Given the description of an element on the screen output the (x, y) to click on. 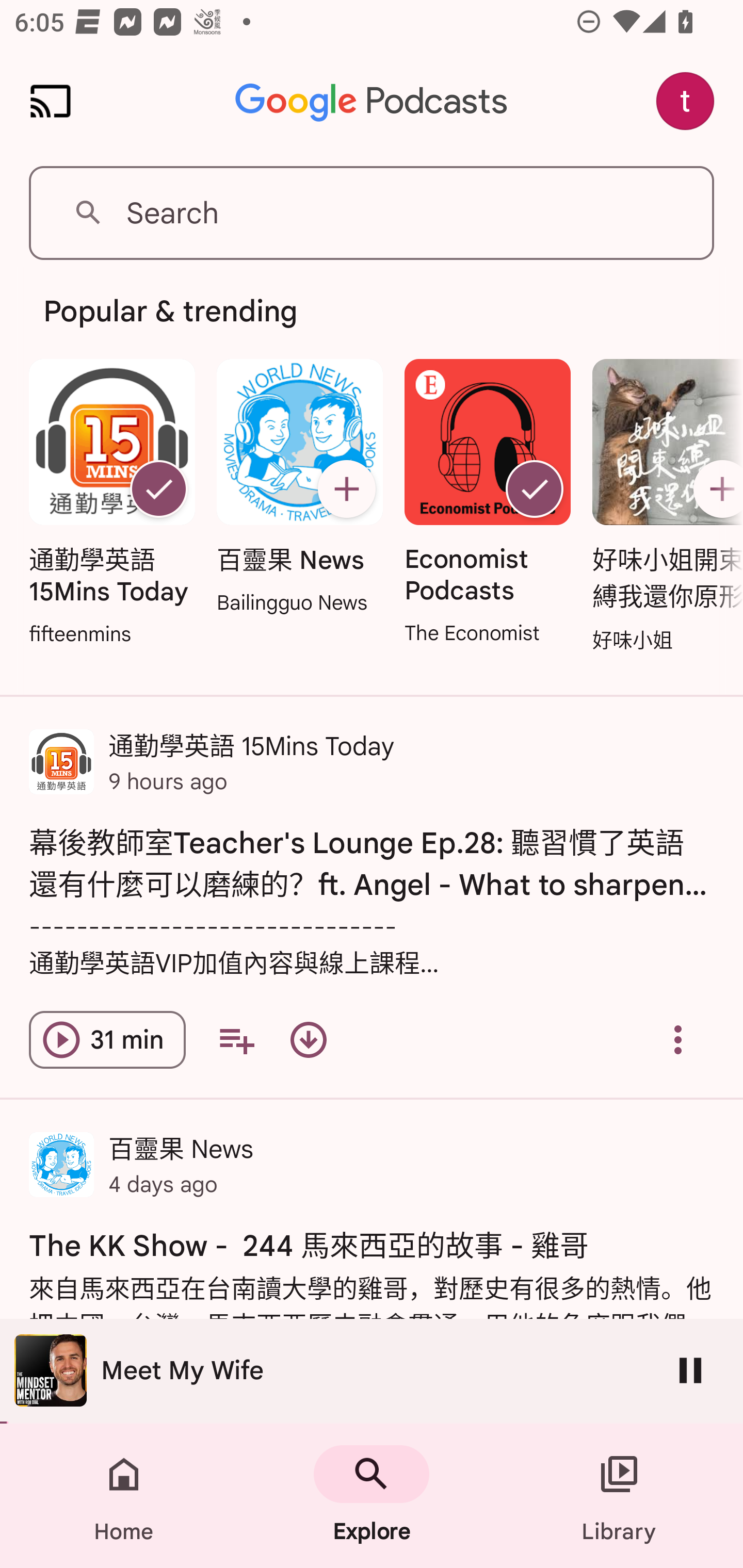
Cast. Disconnected (50, 101)
Search (371, 212)
百靈果 News Subscribe 百靈果 News Bailingguo News (299, 488)
好味小姐開束縛我還你原形 Subscribe 好味小姐開束縛我還你原形 好味小姐 (662, 507)
Unsubscribe (158, 489)
Subscribe (346, 489)
Unsubscribe (534, 489)
Subscribe (714, 489)
Add to your queue (235, 1040)
Download episode (308, 1040)
Overflow menu (677, 1040)
The Mindset Mentor Meet My Wife Pause 85.0 (371, 1370)
Pause (690, 1370)
Home (123, 1495)
Library (619, 1495)
